Given the description of an element on the screen output the (x, y) to click on. 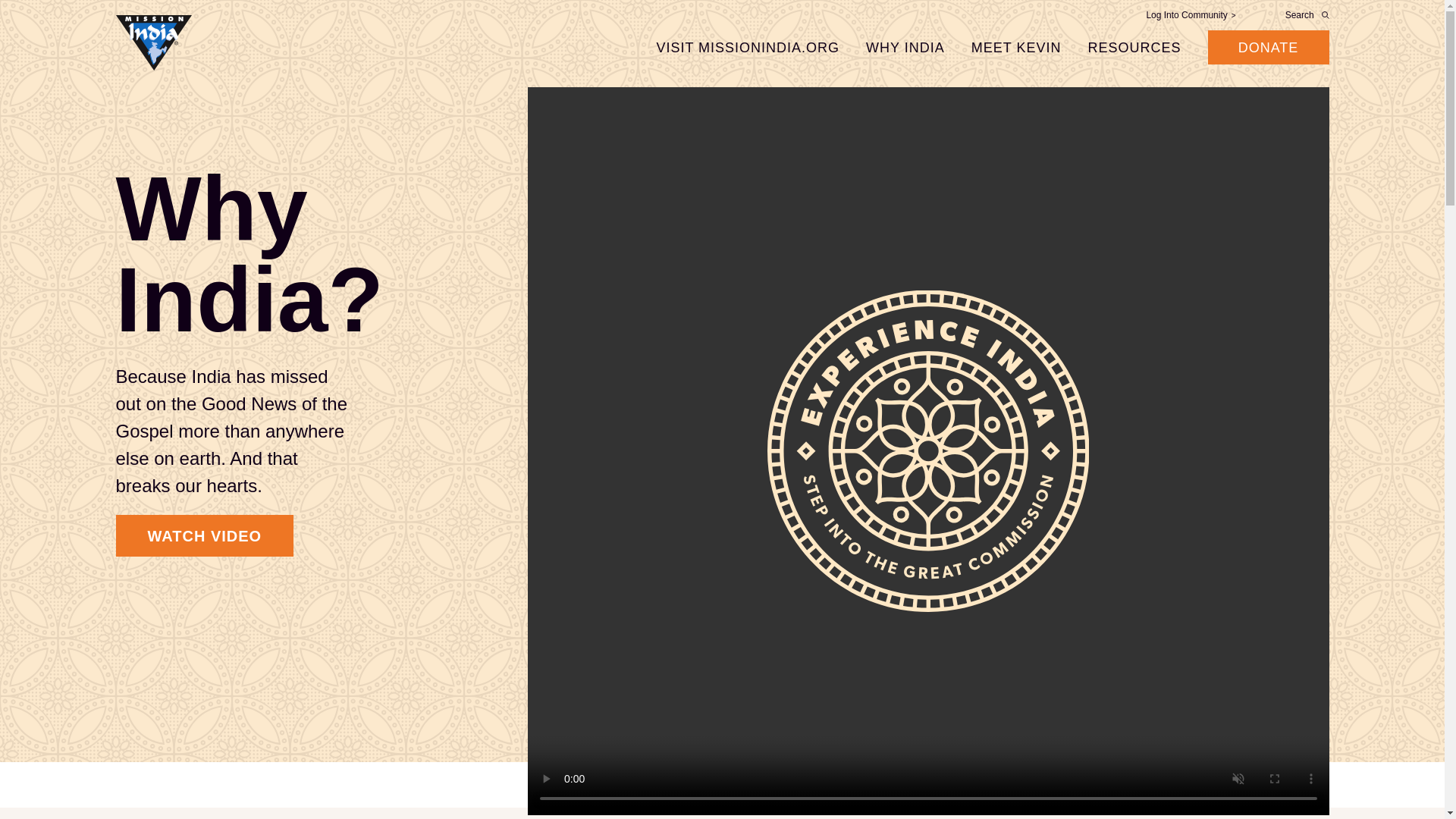
VISIT MISSIONINDIA.ORG (748, 46)
DONATE (1267, 47)
WHY INDIA (905, 46)
Search (1305, 14)
Log Into Community (1189, 14)
RESOURCES (1133, 46)
MEET KEVIN (1016, 46)
Mission India (152, 43)
WATCH VIDEO (204, 535)
